Given the description of an element on the screen output the (x, y) to click on. 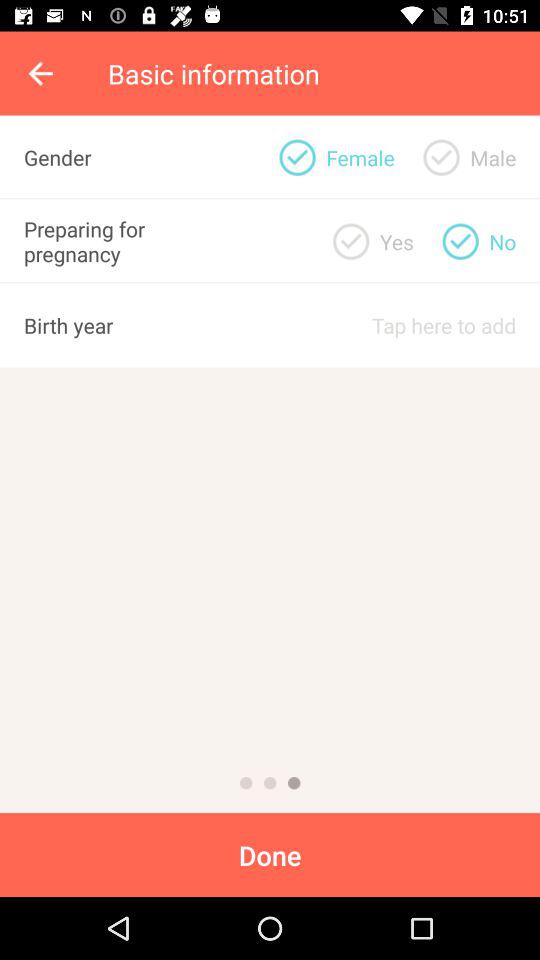
open item to the left of the yes item (297, 157)
